Given the description of an element on the screen output the (x, y) to click on. 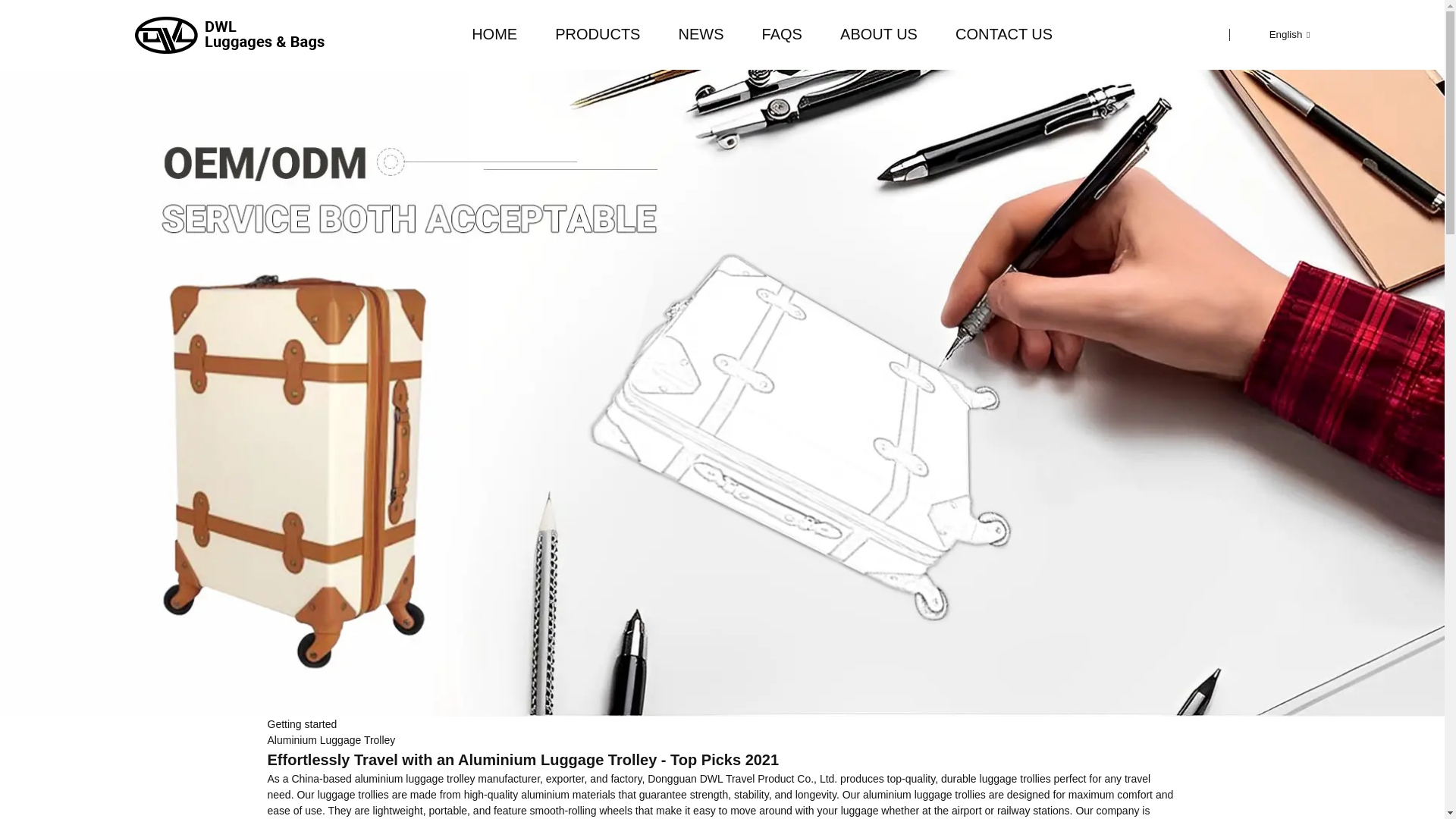
Getting started (301, 724)
PRODUCTS (597, 33)
English (1277, 34)
CONTACT US (1003, 33)
Aluminium Luggage Trolley (330, 739)
ABOUT US (878, 33)
